Given the description of an element on the screen output the (x, y) to click on. 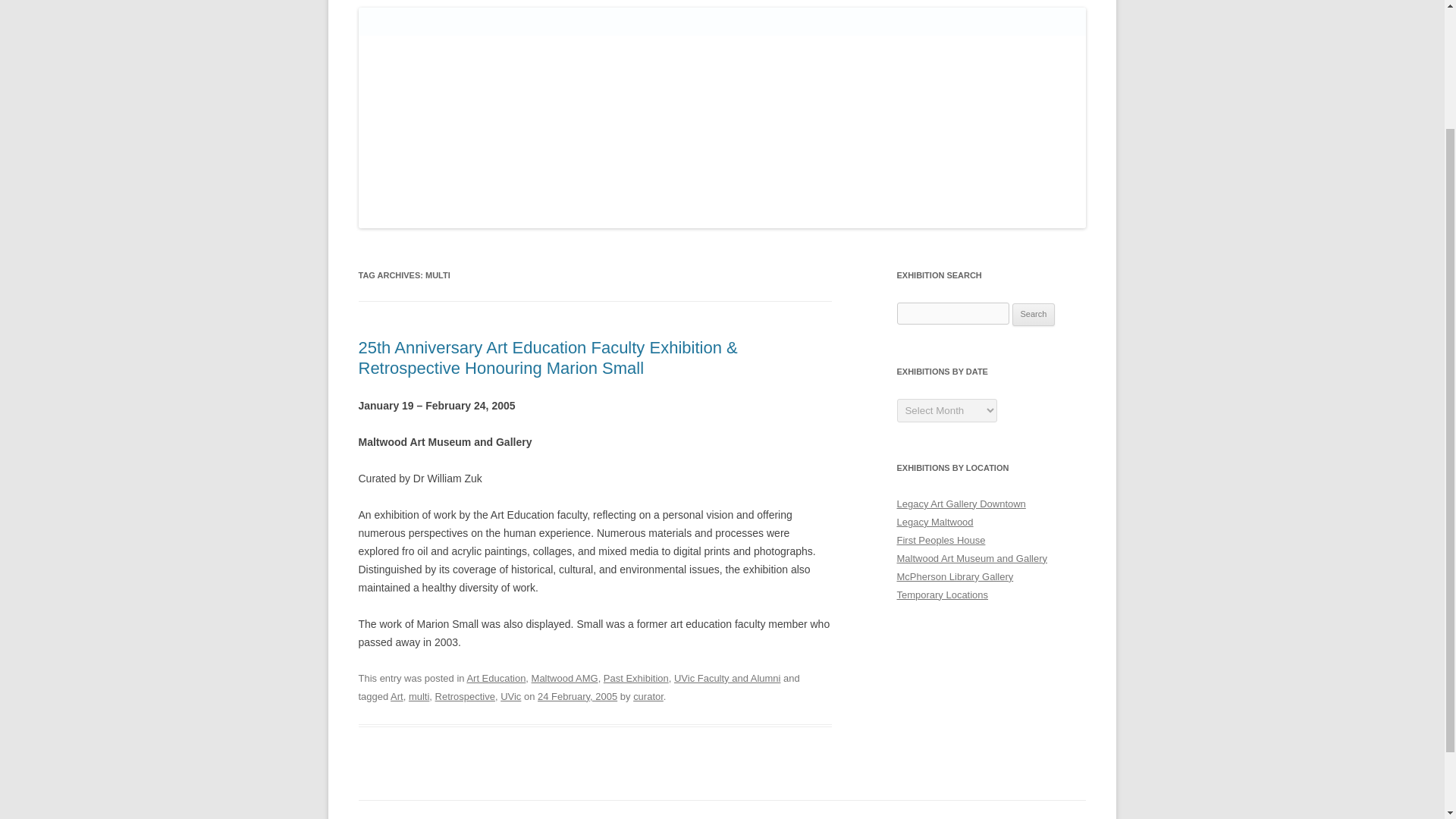
View all posts by curator (648, 696)
24 February, 2005 (577, 696)
Maltwood AMG (564, 677)
Search (1033, 314)
Past Exhibition (636, 677)
Search (1033, 314)
multi (419, 696)
Retrospective (465, 696)
Maltwood Art Museum and Gallery (971, 558)
Art (396, 696)
